Given the description of an element on the screen output the (x, y) to click on. 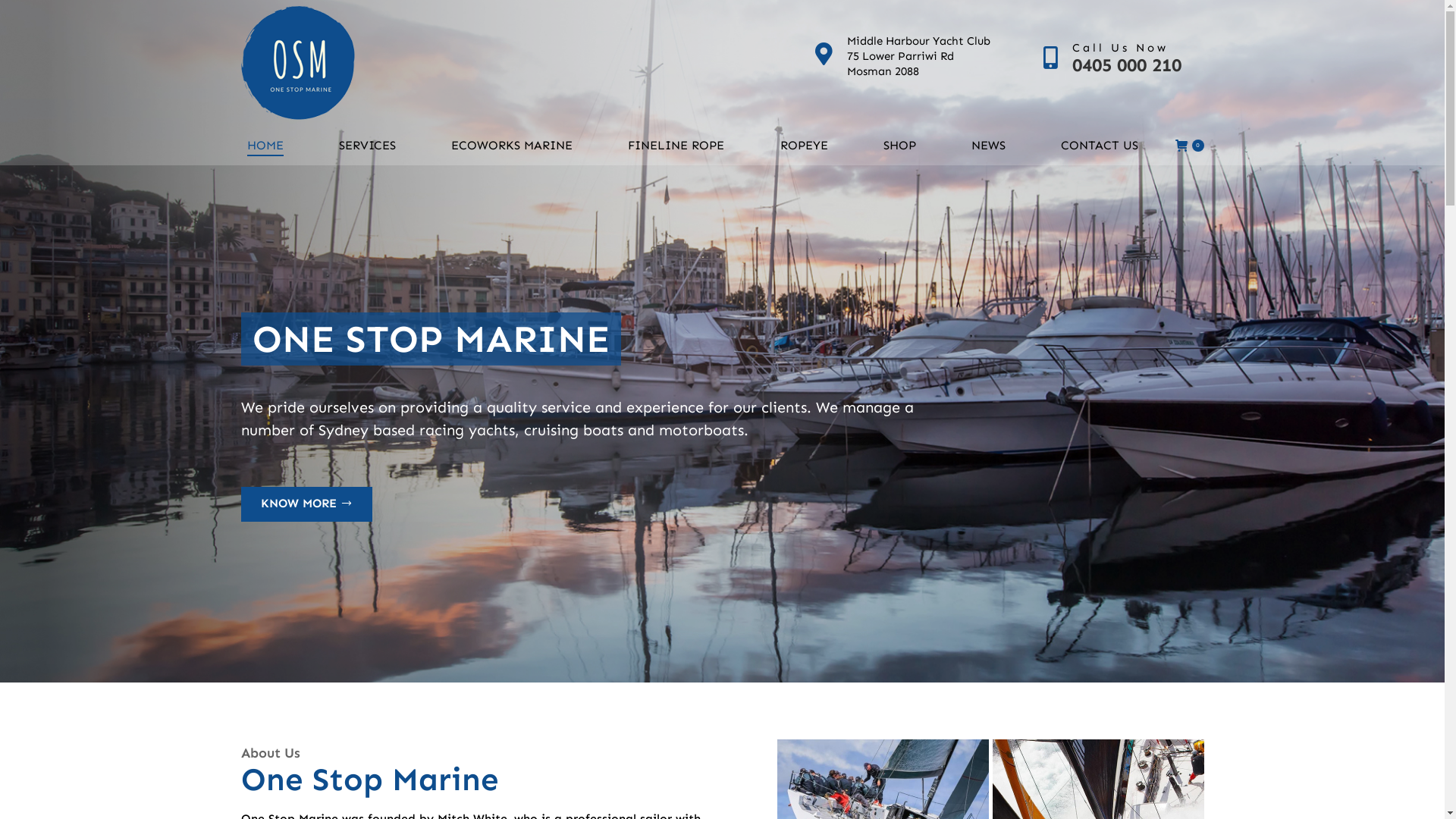
0405 000 210 Element type: text (1126, 64)
SHOP Element type: text (899, 145)
FINELINE ROPE Element type: text (676, 145)
SERVICES Element type: text (367, 145)
NEWS Element type: text (987, 145)
CONTACT US Element type: text (1099, 145)
HOME Element type: text (265, 145)
ROPEYE Element type: text (803, 145)
ECOWORKS MARINE Element type: text (512, 145)
KNOW MORE Element type: text (306, 503)
 0 Element type: text (1189, 145)
